Given the description of an element on the screen output the (x, y) to click on. 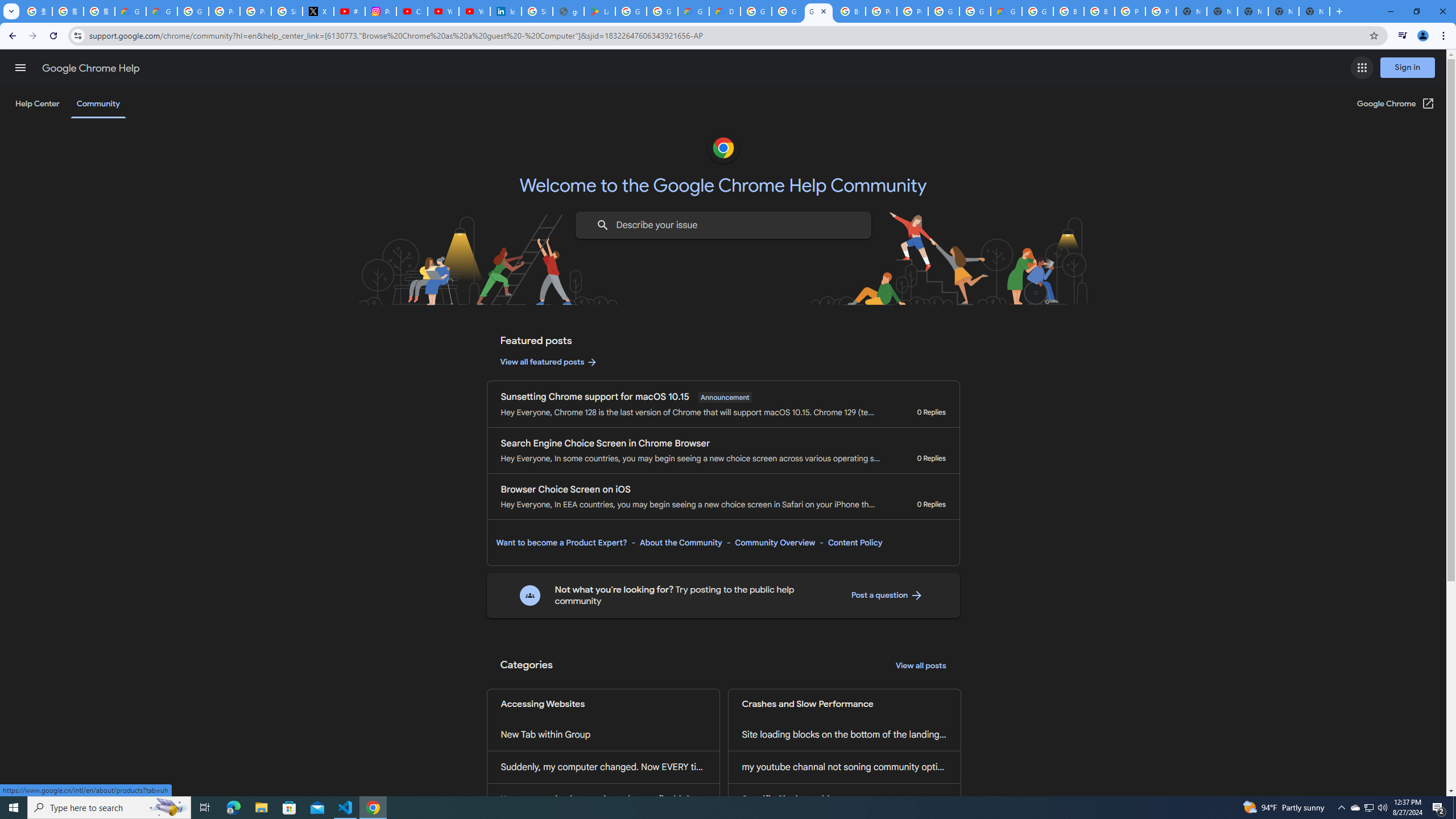
Google Cloud Platform (943, 11)
Privacy Help Center - Policies Help (223, 11)
Content Policy (854, 542)
google_privacy_policy_en.pdf (568, 11)
